Given the description of an element on the screen output the (x, y) to click on. 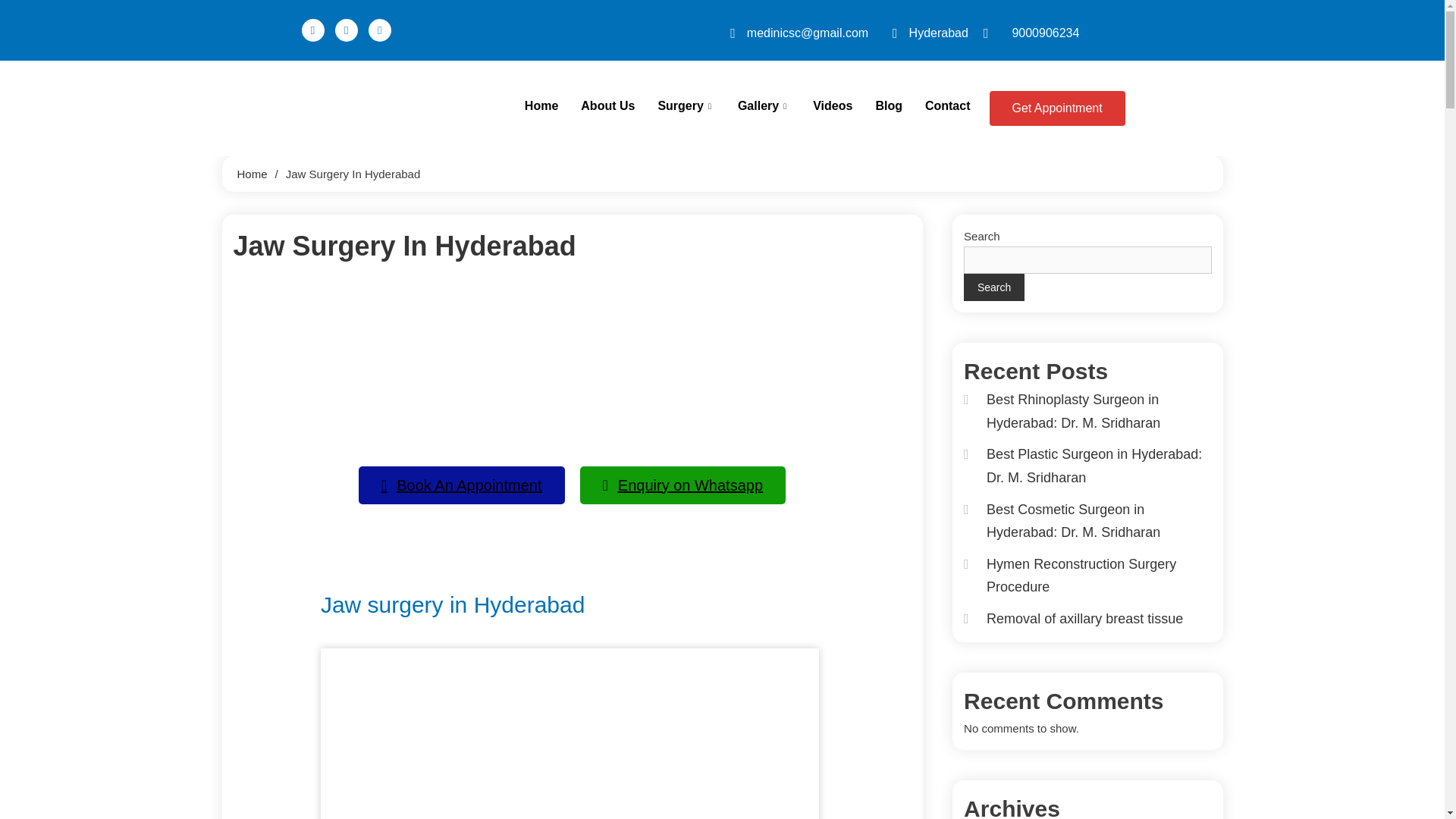
9000906234 (1031, 33)
About Us (607, 106)
Home (541, 106)
Surgery (686, 106)
Hyderabad (924, 33)
